Given the description of an element on the screen output the (x, y) to click on. 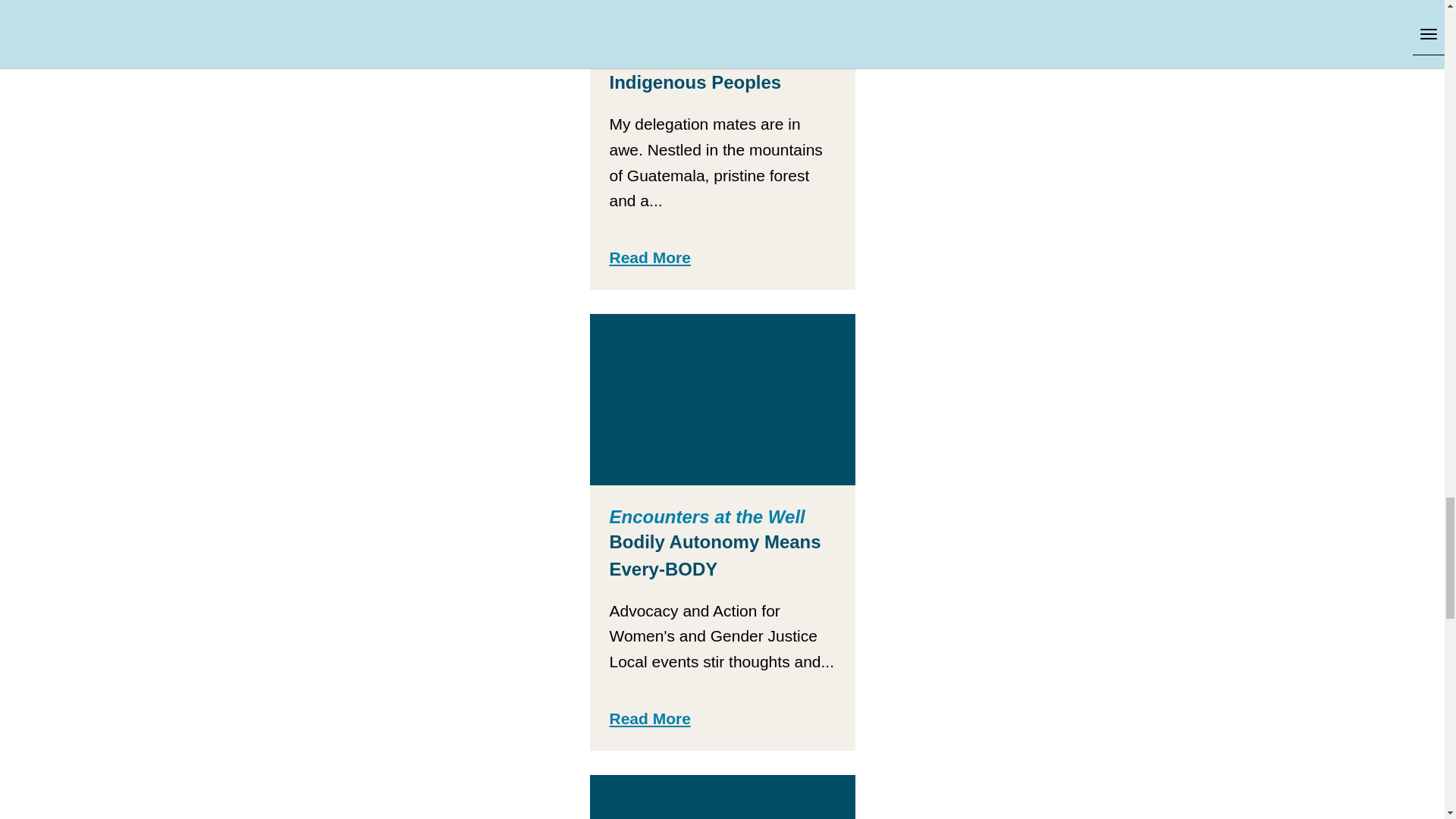
Read more of Bodily Autonomy Means Every-BODY (650, 718)
A Call to Protect Indigenous Peoples (695, 68)
Bodily Autonomy Means Every-BODY (715, 555)
Bodily Autonomy Means Every-BODY (722, 399)
Read more of A Call to Protect Indigenous Peoples (650, 257)
Demystifying the Stigma of Mental Illness (722, 796)
